Given the description of an element on the screen output the (x, y) to click on. 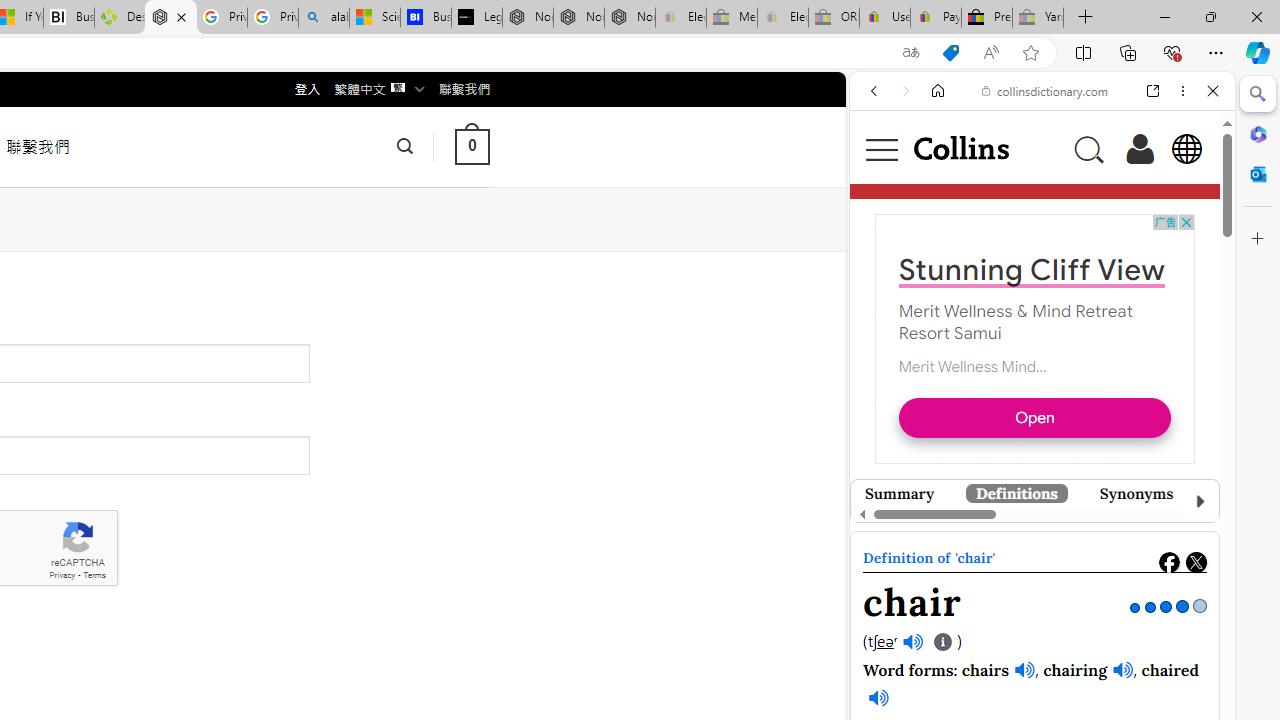
Show translate options (910, 53)
Class: ns-14utm-e-1 svg-anchor (1027, 539)
  0   (472, 146)
Show more (1129, 615)
chairman (1073, 615)
Log In (1140, 148)
